Given the description of an element on the screen output the (x, y) to click on. 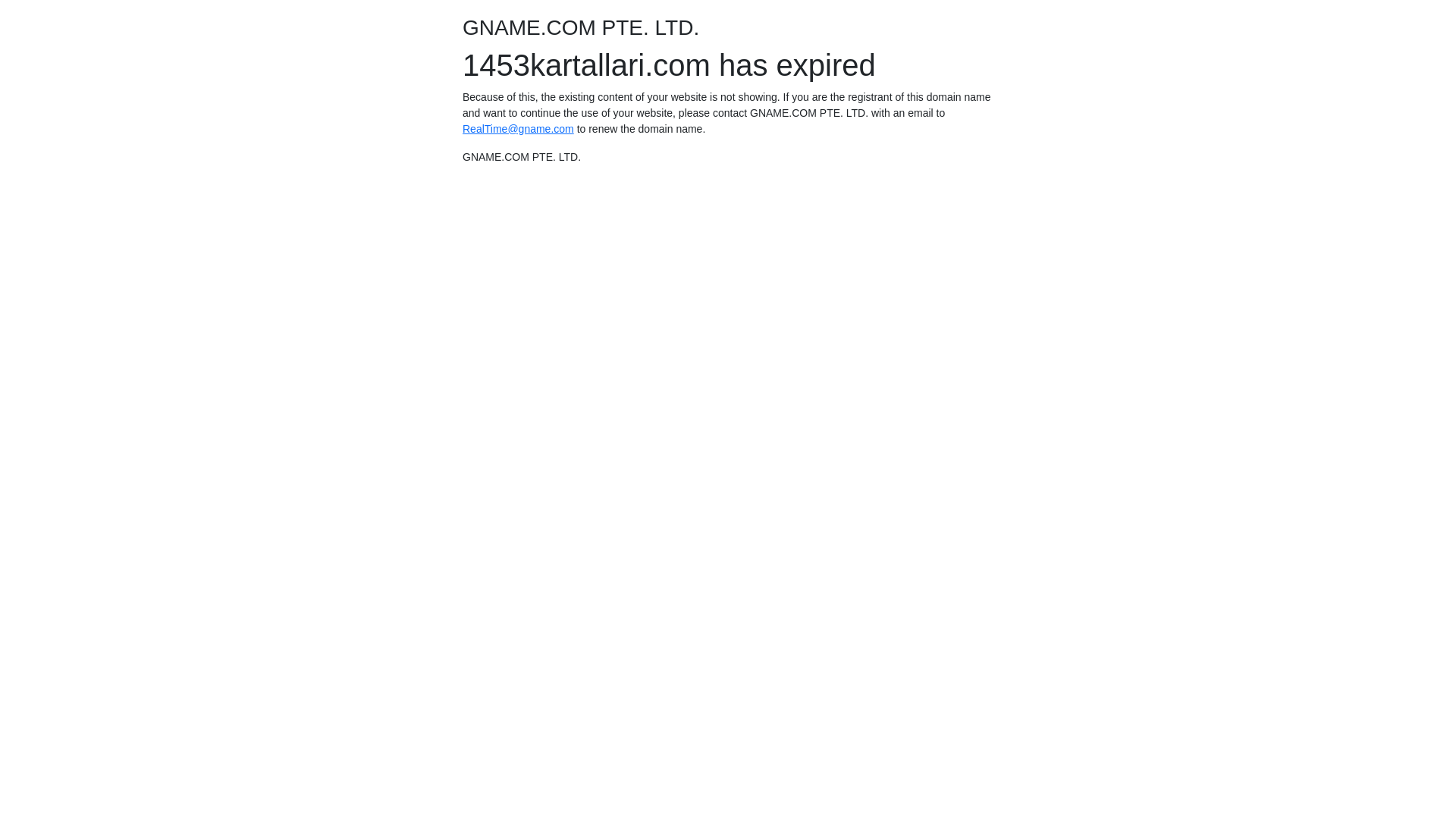
RealTime@gname.com Element type: text (518, 128)
